Given the description of an element on the screen output the (x, y) to click on. 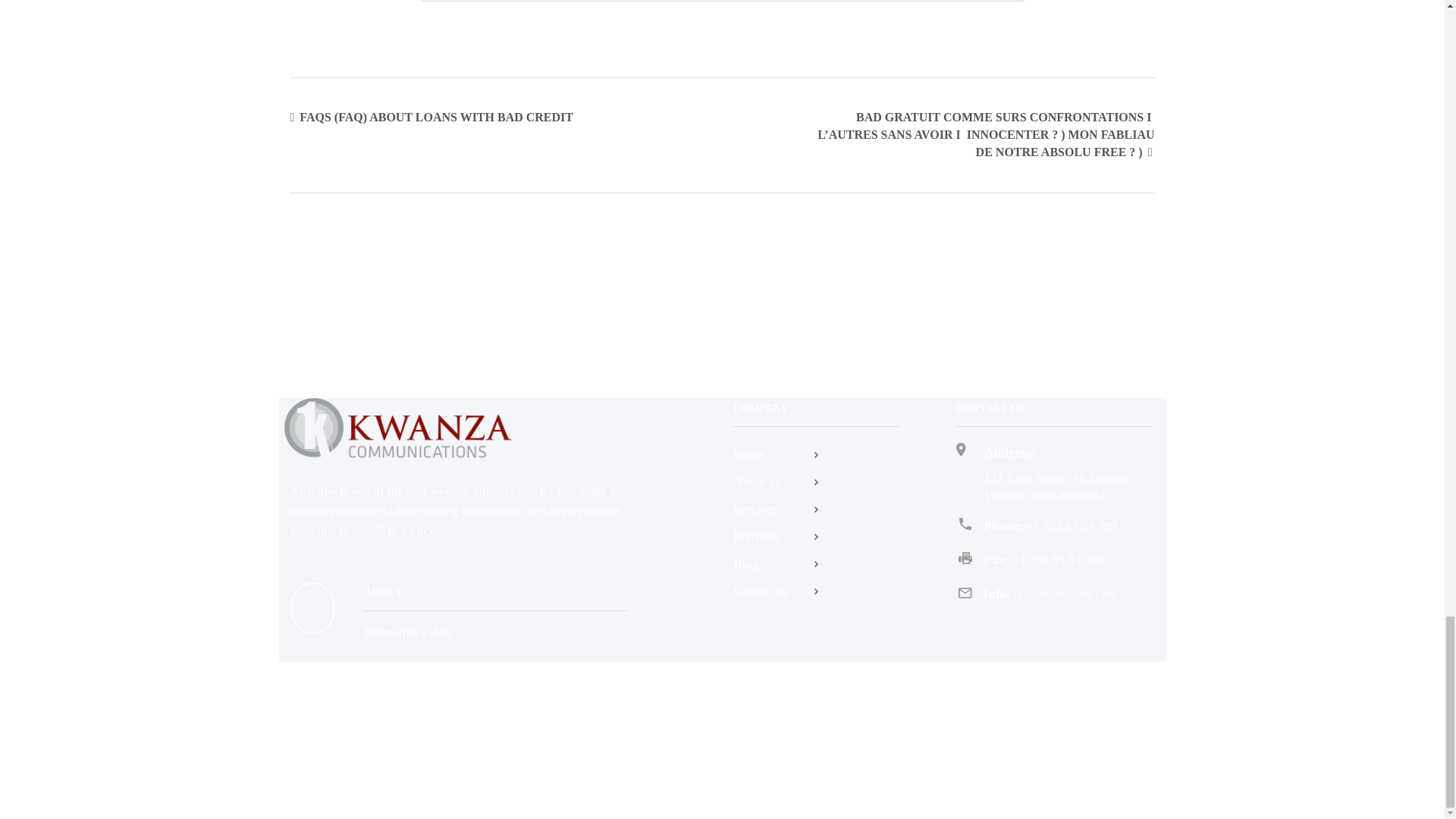
About us (815, 482)
Blog (815, 564)
Home (815, 455)
Services (815, 509)
Facebook (1087, 733)
Contact us (815, 591)
Portfolio (815, 537)
Twitter (1135, 733)
